Given the description of an element on the screen output the (x, y) to click on. 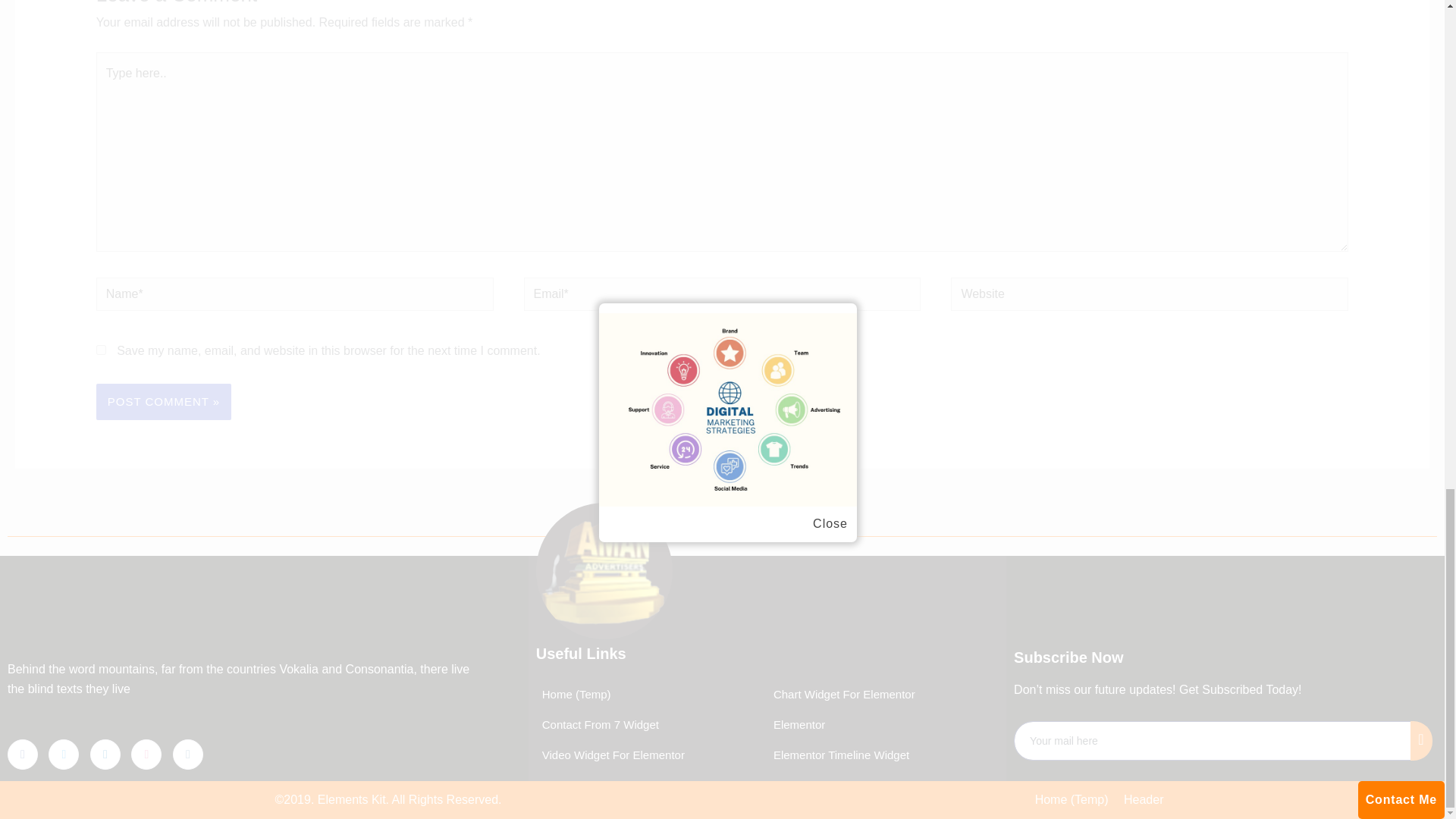
Video Widget For Elementor (609, 755)
Header (1143, 799)
Elementor Timeline Widget (837, 755)
Elementor (796, 725)
yes (101, 349)
Contact From 7 Widget (597, 725)
Chart Widget For Elementor (841, 694)
